Given the description of an element on the screen output the (x, y) to click on. 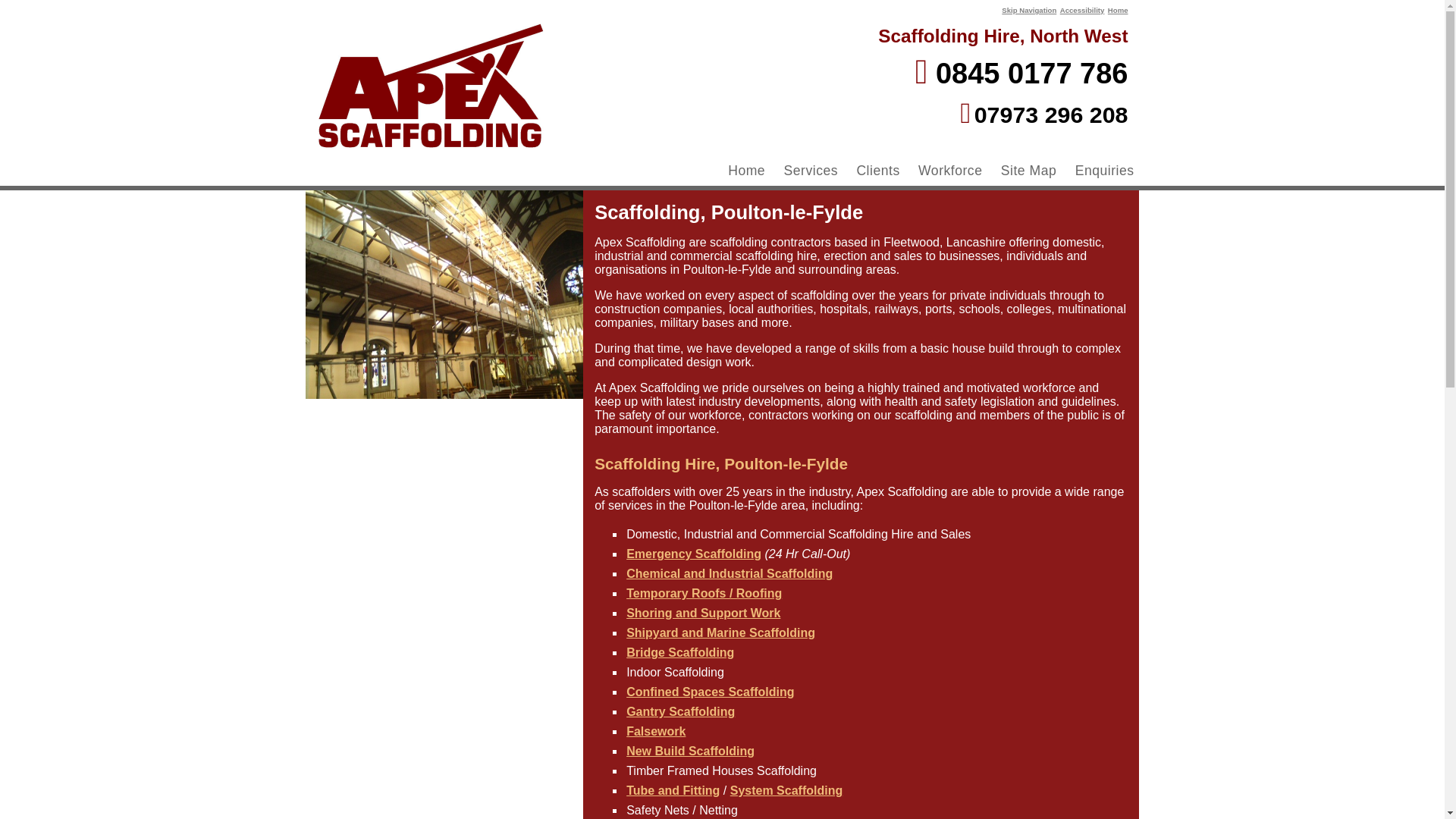
Shipyard and Marine Scaffolding (720, 632)
Home (1118, 9)
Bridge Scaffolding (679, 652)
Skip Navigation (1029, 9)
Accessibility (1082, 9)
Emergency Scaffolding (693, 553)
Enquiries (1103, 170)
Mobile No: 07973 296 208 (1044, 118)
Workforce (949, 170)
Trained and Accredited Workforce (949, 170)
